Given the description of an element on the screen output the (x, y) to click on. 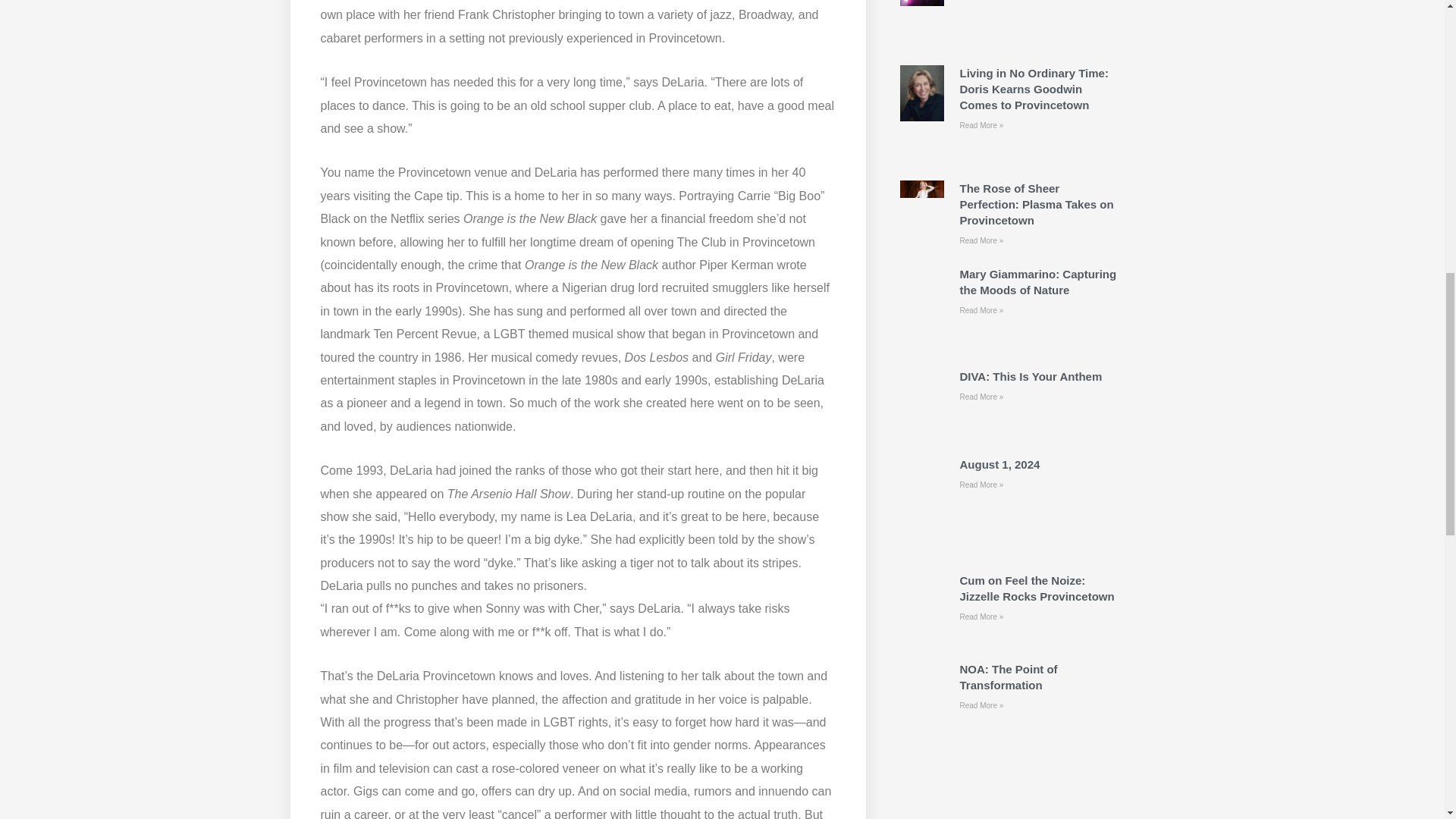
August 1, 2024 (999, 463)
DIVA: This Is Your Anthem (1030, 376)
Mary Giammarino: Capturing the Moods of Nature (1037, 281)
The Rose of Sheer Perfection: Plasma Takes on Provincetown (1036, 203)
